Given the description of an element on the screen output the (x, y) to click on. 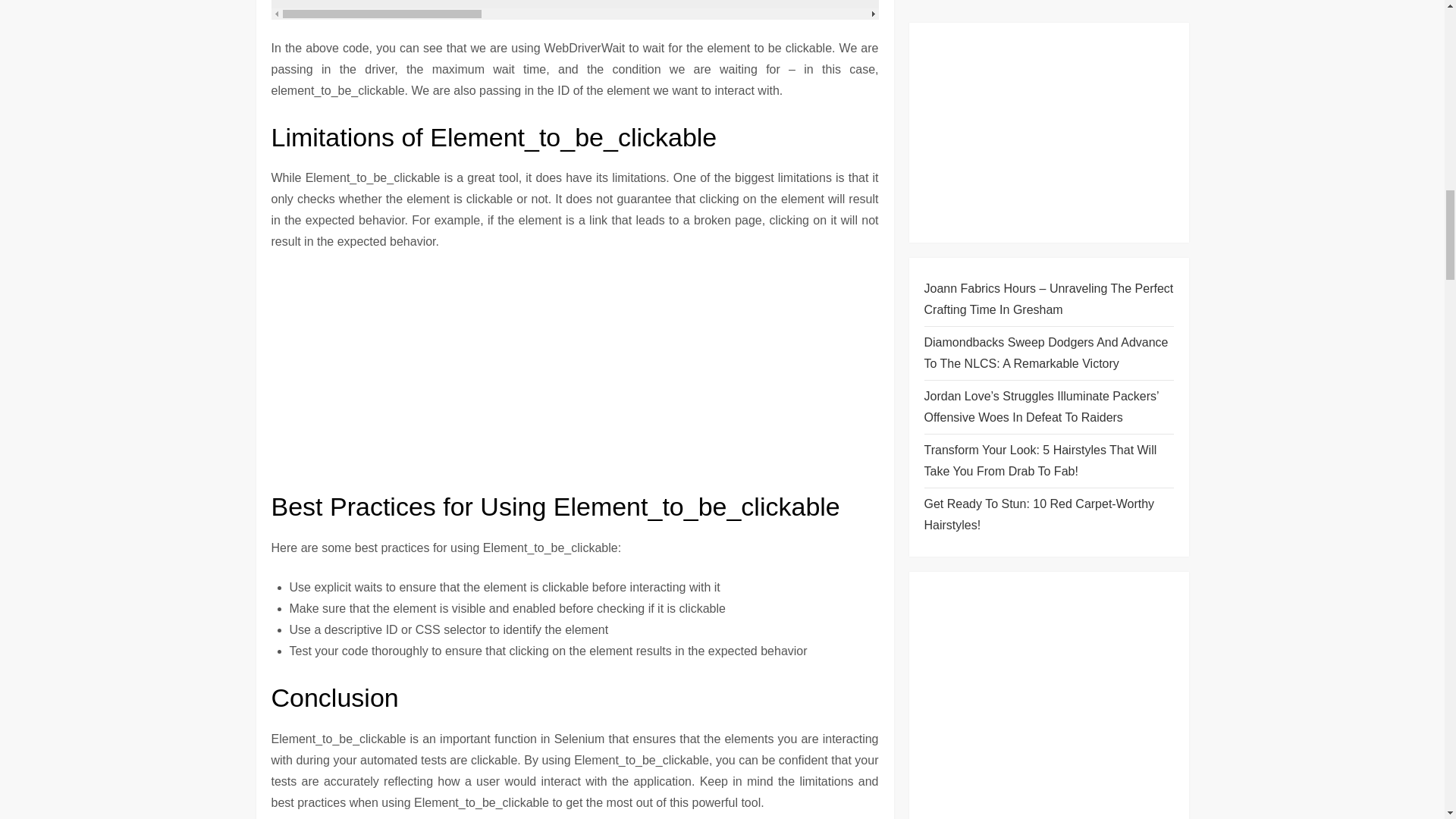
Advertisement (574, 377)
